Given the description of an element on the screen output the (x, y) to click on. 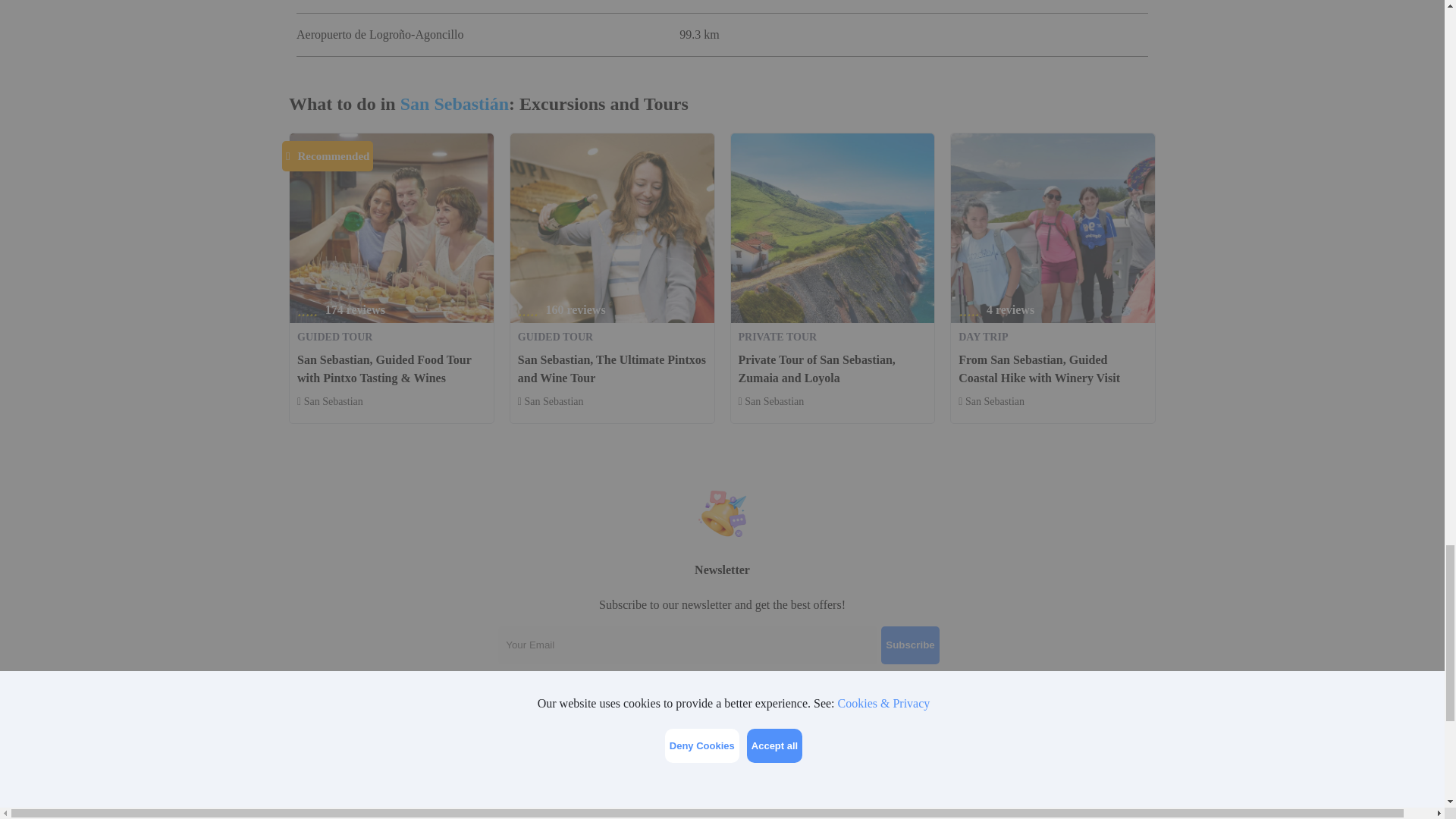
Subscribe (909, 645)
